Given the description of an element on the screen output the (x, y) to click on. 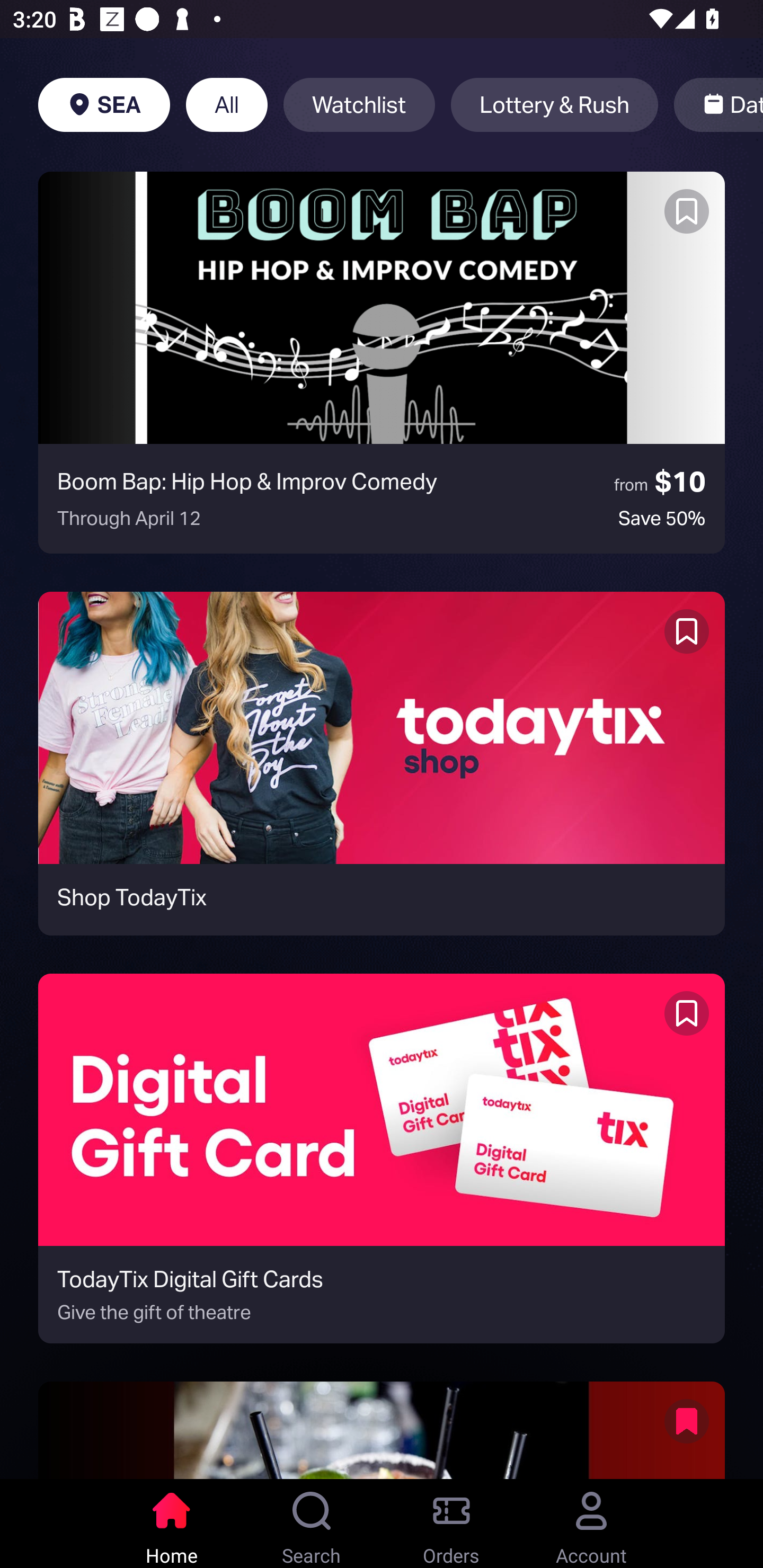
SEA (104, 104)
All (226, 104)
Watchlist (358, 104)
Lottery & Rush (553, 104)
Shop TodayTix (381, 763)
Search (311, 1523)
Orders (451, 1523)
Account (591, 1523)
